Given the description of an element on the screen output the (x, y) to click on. 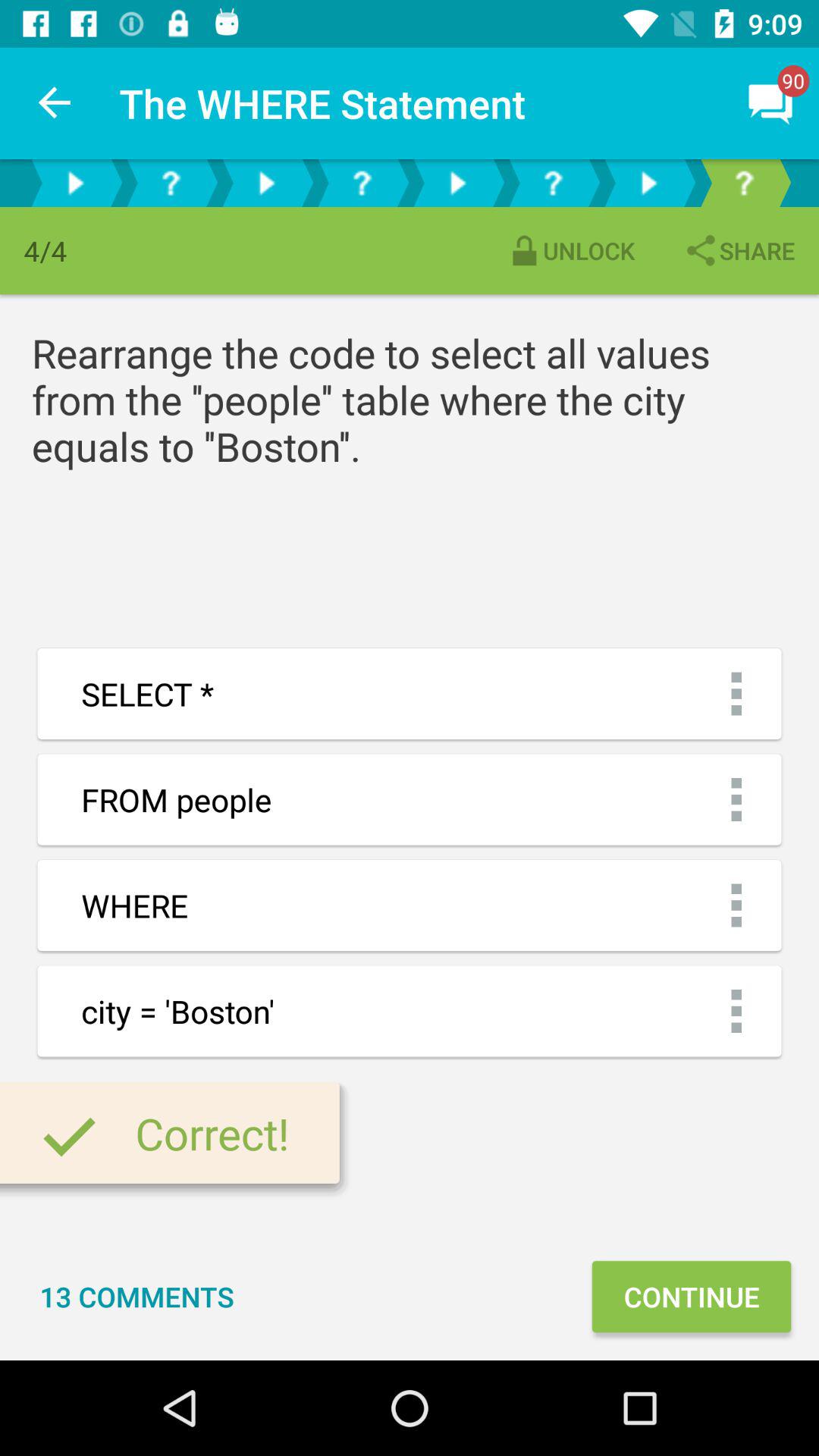
flip until the share item (738, 250)
